Given the description of an element on the screen output the (x, y) to click on. 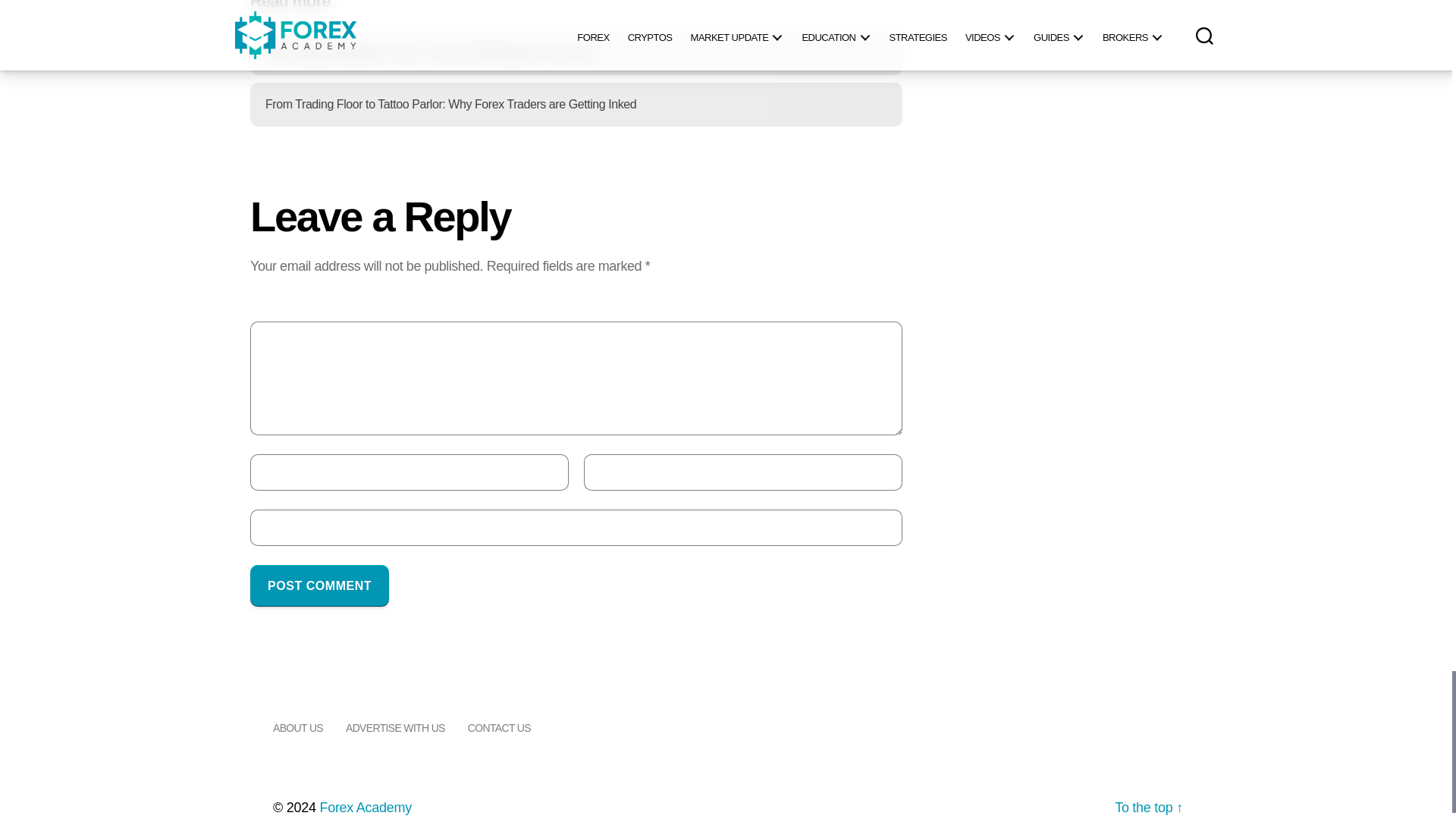
Post Comment (319, 585)
